Given the description of an element on the screen output the (x, y) to click on. 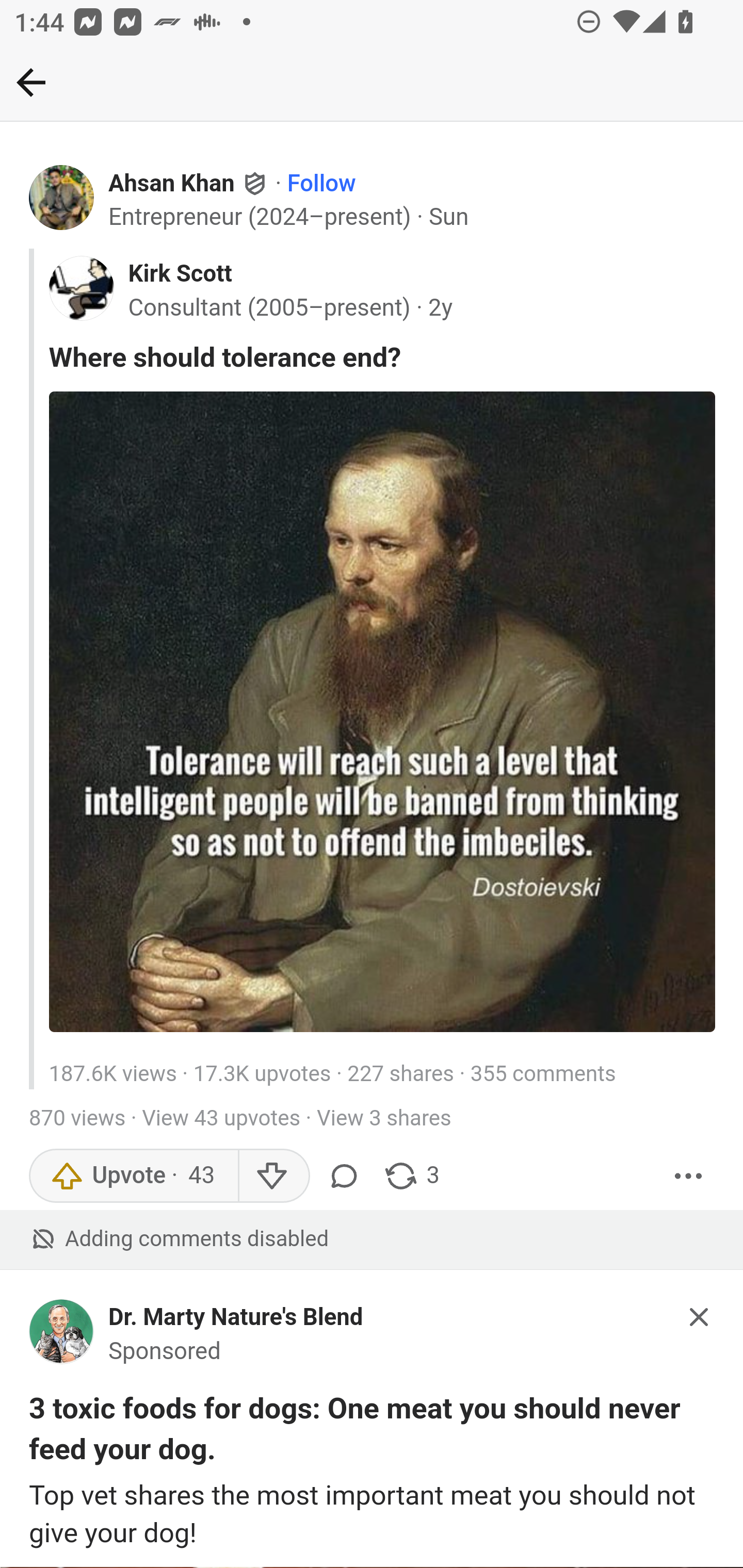
Back (30, 82)
Profile photo for Ahsan Khan (61, 198)
Ahsan Khan (171, 183)
Follow (321, 183)
Profile photo for Kirk Scott (80, 288)
Kirk Scott (179, 274)
Where should tolerance end? (381, 357)
main-qimg-74759d6f47304ab91be46c095a81b06f-lq (381, 711)
187.6K views (112, 1074)
17.3K upvotes (261, 1074)
227 shares (400, 1074)
355 comments (543, 1074)
View 43 upvotes (221, 1119)
View 3 shares (384, 1119)
Upvote (133, 1175)
Downvote (273, 1175)
Comment (346, 1175)
3 shares (411, 1175)
More (688, 1175)
Hide (699, 1317)
main-qimg-e8746c09aa0d4ed8a963f1deceb459e8 (61, 1337)
Dr. Marty Nature's Blend (236, 1316)
Sponsored (165, 1351)
